Given the description of an element on the screen output the (x, y) to click on. 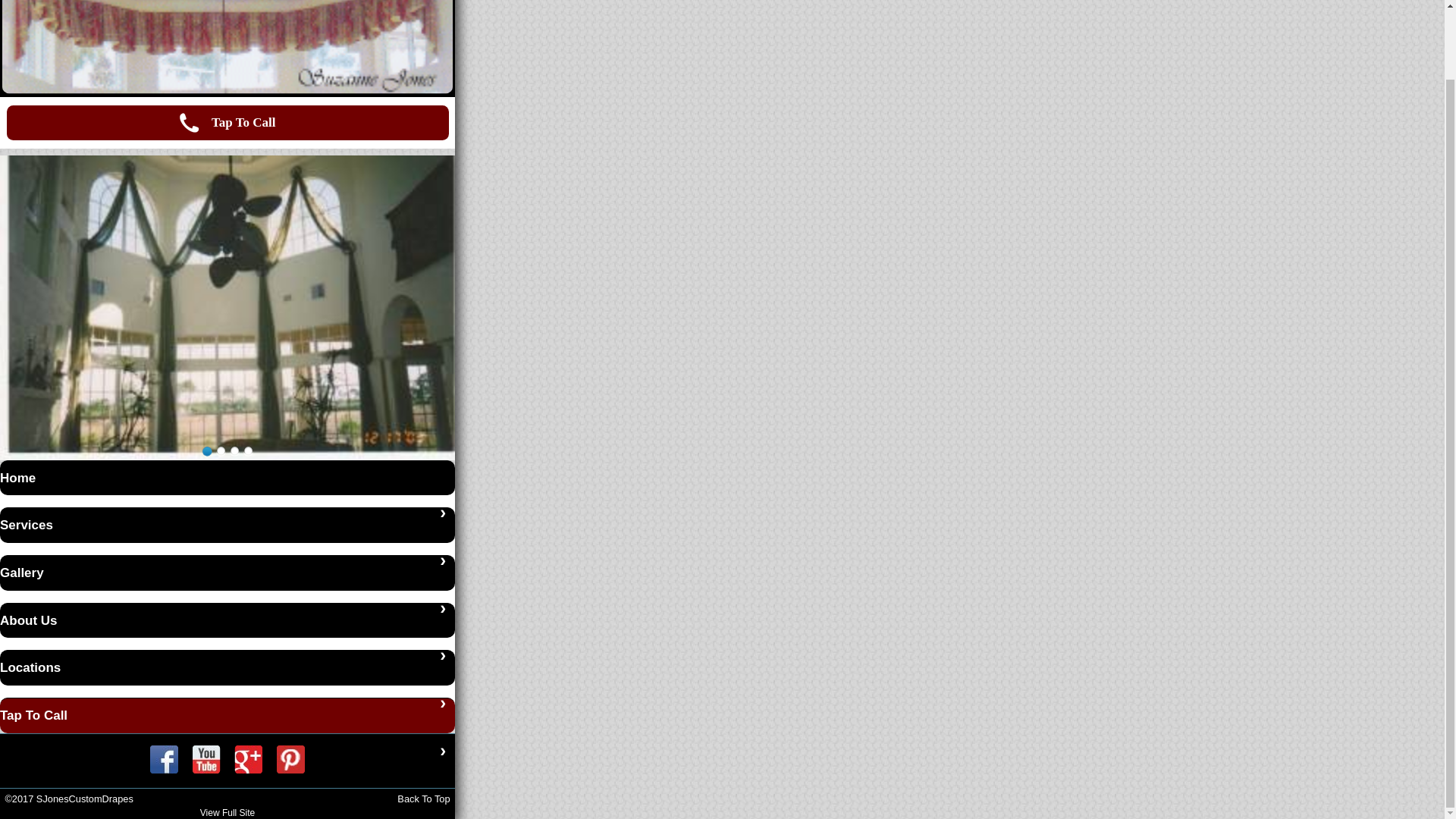
1 (206, 451)
4 (247, 451)
Back To Top (423, 798)
View Full Site (227, 812)
2 (220, 451)
3 (233, 451)
Tap To Call (226, 122)
